Given the description of an element on the screen output the (x, y) to click on. 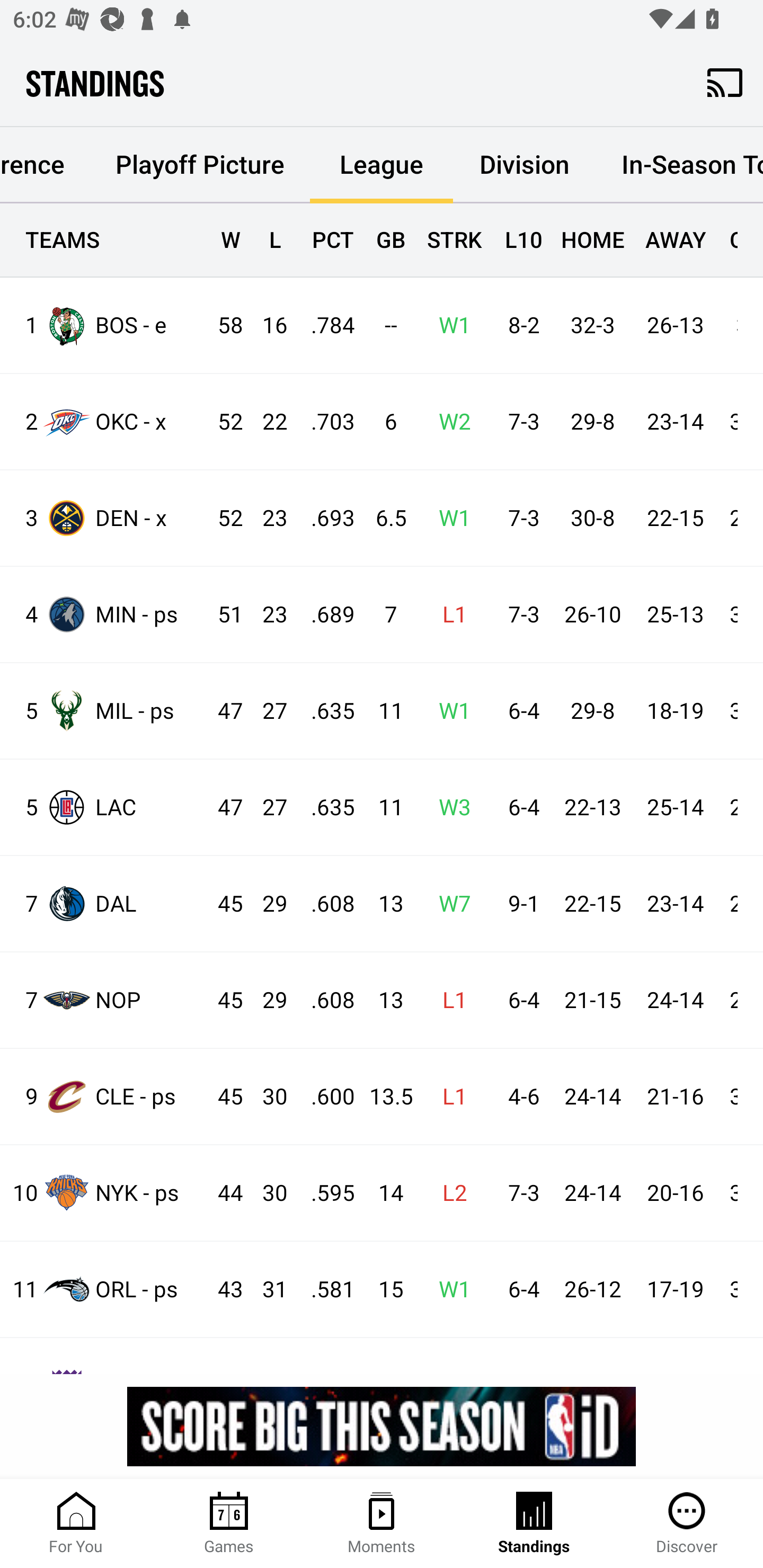
Cast. Disconnected (724, 82)
Conference (45, 165)
Playoff Picture (199, 165)
Division (524, 165)
In-Season Tournament (679, 165)
1 BOS - e (104, 325)
16 (265, 324)
.784 (323, 324)
-- (382, 324)
W1 (449, 324)
8-2 (518, 324)
32-3 (592, 324)
26-13 (675, 324)
2 OKC - x (104, 421)
22 (265, 422)
.703 (323, 422)
6 (382, 422)
W2 (449, 422)
7-3 (518, 422)
29-8 (592, 422)
23-14 (675, 422)
3 DEN - x (104, 518)
23 (265, 517)
.693 (323, 517)
6.5 (382, 517)
W1 (449, 517)
7-3 (518, 517)
30-8 (592, 517)
22-15 (675, 517)
4 MIN - ps (104, 613)
23 (265, 615)
.689 (323, 615)
7 (382, 615)
L1 (449, 615)
7-3 (518, 615)
26-10 (592, 615)
25-13 (675, 615)
5 MIL - ps (104, 710)
27 (265, 710)
.635 (323, 710)
11 (382, 710)
W1 (449, 710)
6-4 (518, 710)
29-8 (592, 710)
18-19 (675, 710)
5 LAC (104, 806)
27 (265, 807)
.635 (323, 807)
11 (382, 807)
W3 (449, 807)
6-4 (518, 807)
22-13 (592, 807)
25-14 (675, 807)
7 DAL (104, 903)
29 (265, 903)
.608 (323, 903)
13 (382, 903)
W7 (449, 903)
9-1 (518, 903)
22-15 (592, 903)
23-14 (675, 903)
7 NOP (104, 999)
29 (265, 1000)
.608 (323, 1000)
13 (382, 1000)
L1 (449, 1000)
6-4 (518, 1000)
21-15 (592, 1000)
24-14 (675, 1000)
9 CLE - ps (104, 1096)
30 (265, 1096)
.600 (323, 1096)
13.5 (382, 1096)
L1 (449, 1096)
4-6 (518, 1096)
24-14 (592, 1096)
21-16 (675, 1096)
10 NYK - ps (104, 1192)
30 (265, 1192)
.595 (323, 1192)
14 (382, 1192)
L2 (449, 1192)
7-3 (518, 1192)
24-14 (592, 1192)
20-16 (675, 1192)
11 ORL - ps (104, 1289)
31 (265, 1289)
.581 (323, 1289)
15 (382, 1289)
W1 (449, 1289)
6-4 (518, 1289)
26-12 (592, 1289)
17-19 (675, 1289)
g5nqqygr7owph (381, 1426)
For You (76, 1523)
Games (228, 1523)
Moments (381, 1523)
Discover (686, 1523)
